Given the description of an element on the screen output the (x, y) to click on. 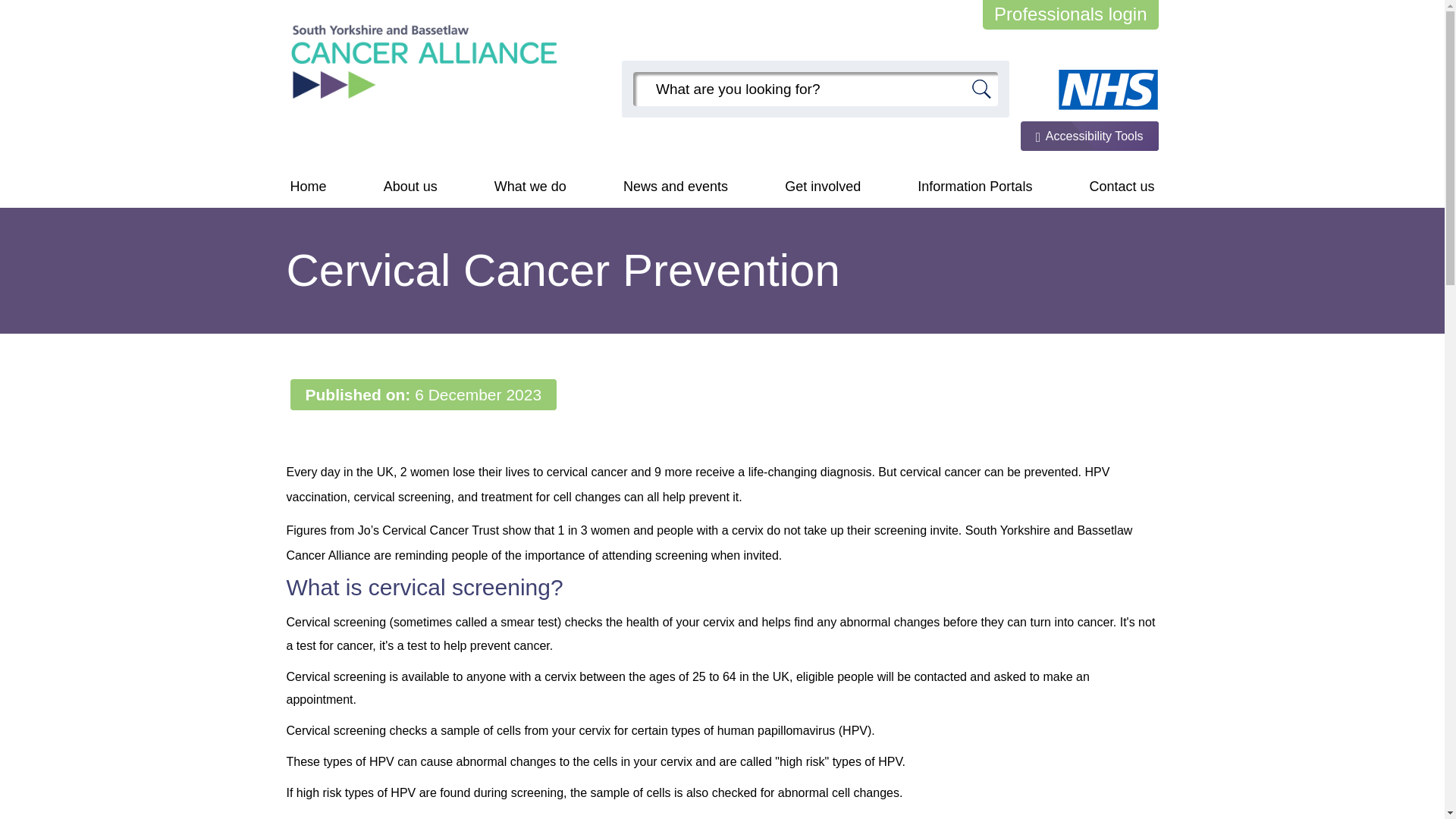
Accessibility Tools (1089, 135)
News and events (675, 187)
Professionals login (1069, 14)
About us (410, 187)
Home (308, 187)
What we do (530, 187)
Go back to the homepage (424, 61)
